Given the description of an element on the screen output the (x, y) to click on. 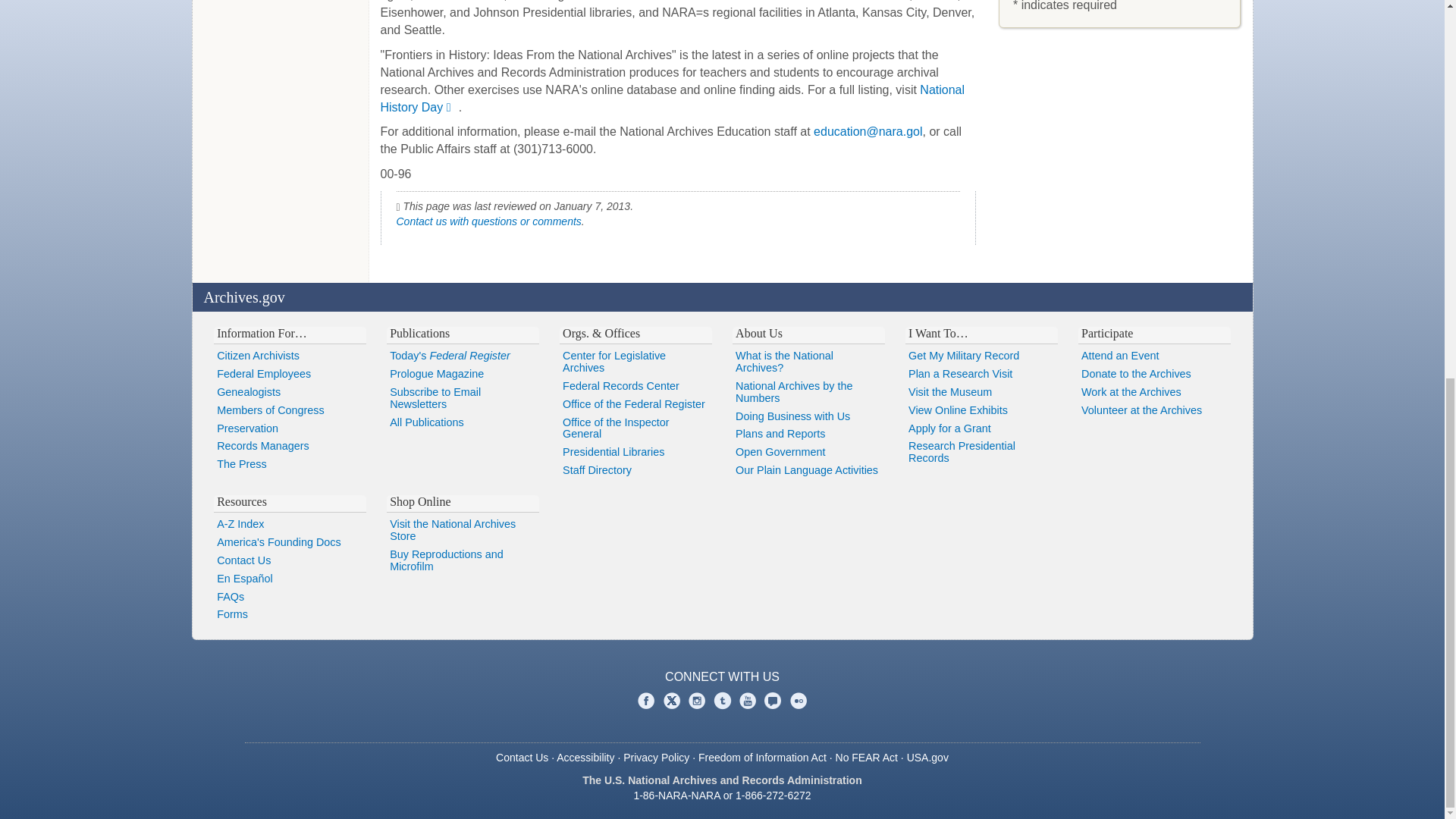
Citizen Archivists (290, 356)
Federal Employees (290, 374)
Contact us with questions or comments (488, 221)
National History Day (672, 98)
